Given the description of an element on the screen output the (x, y) to click on. 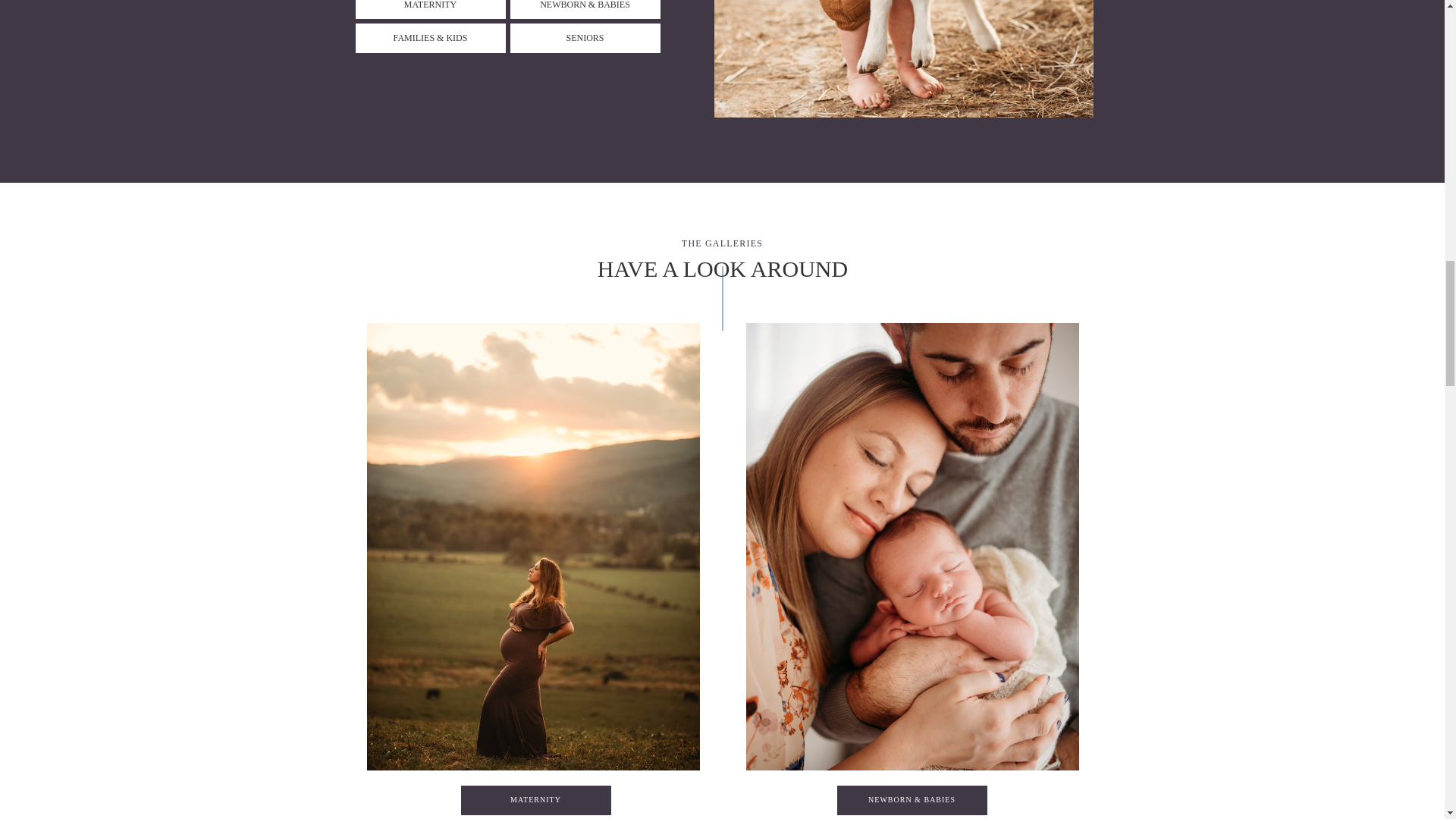
MATERNITY (535, 800)
MATERNITY (430, 6)
SENIORS (585, 36)
